Given the description of an element on the screen output the (x, y) to click on. 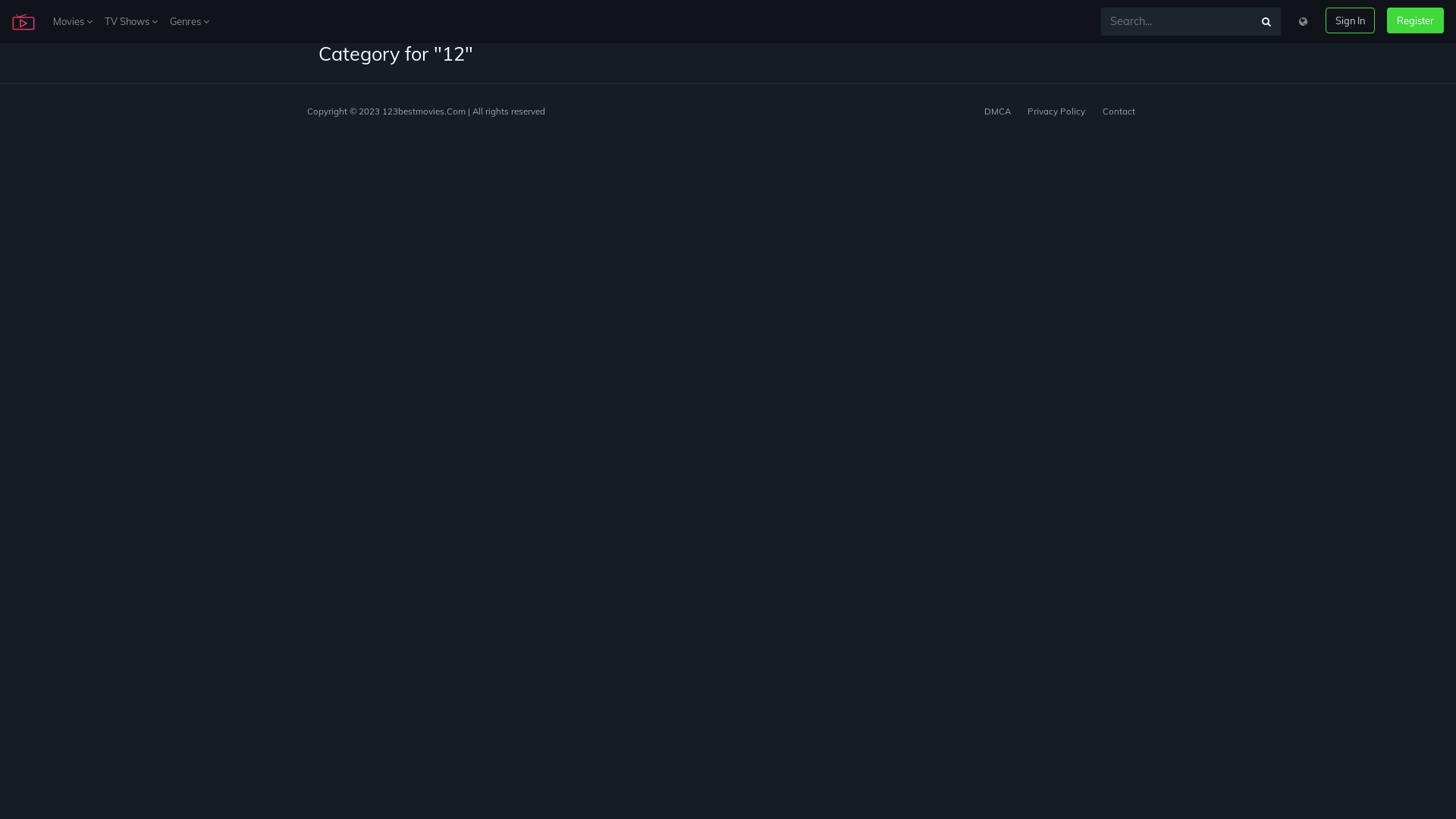
Privacy Policy Element type: text (1056, 110)
Movies Element type: text (72, 20)
TV Shows Element type: text (130, 20)
Contact Element type: text (1118, 110)
Genres Element type: text (189, 20)
Sign In Element type: text (1349, 20)
DMCA Element type: text (997, 110)
Register Element type: text (1414, 20)
